Given the description of an element on the screen output the (x, y) to click on. 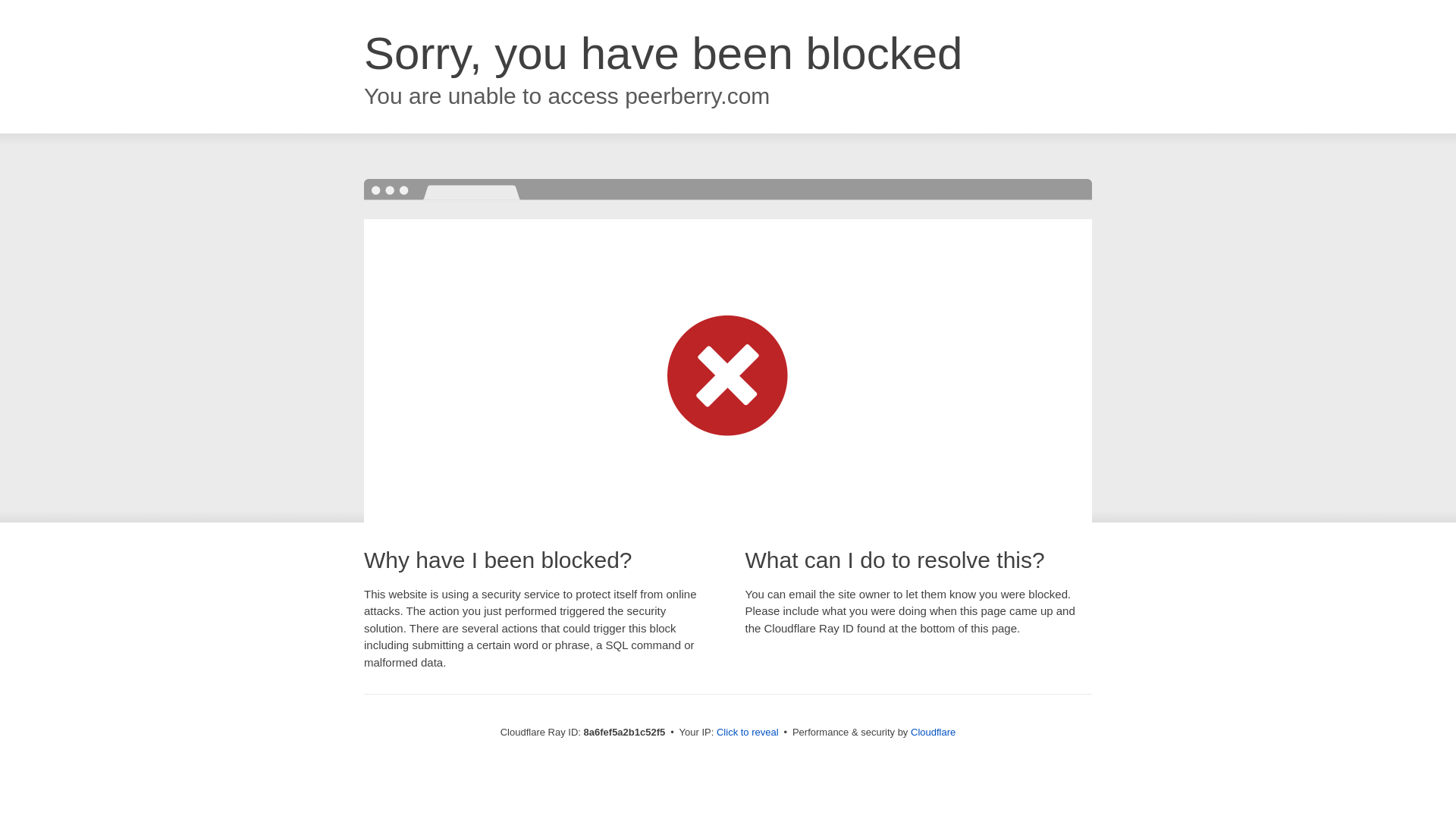
Click to reveal (747, 732)
Cloudflare (933, 731)
